Given the description of an element on the screen output the (x, y) to click on. 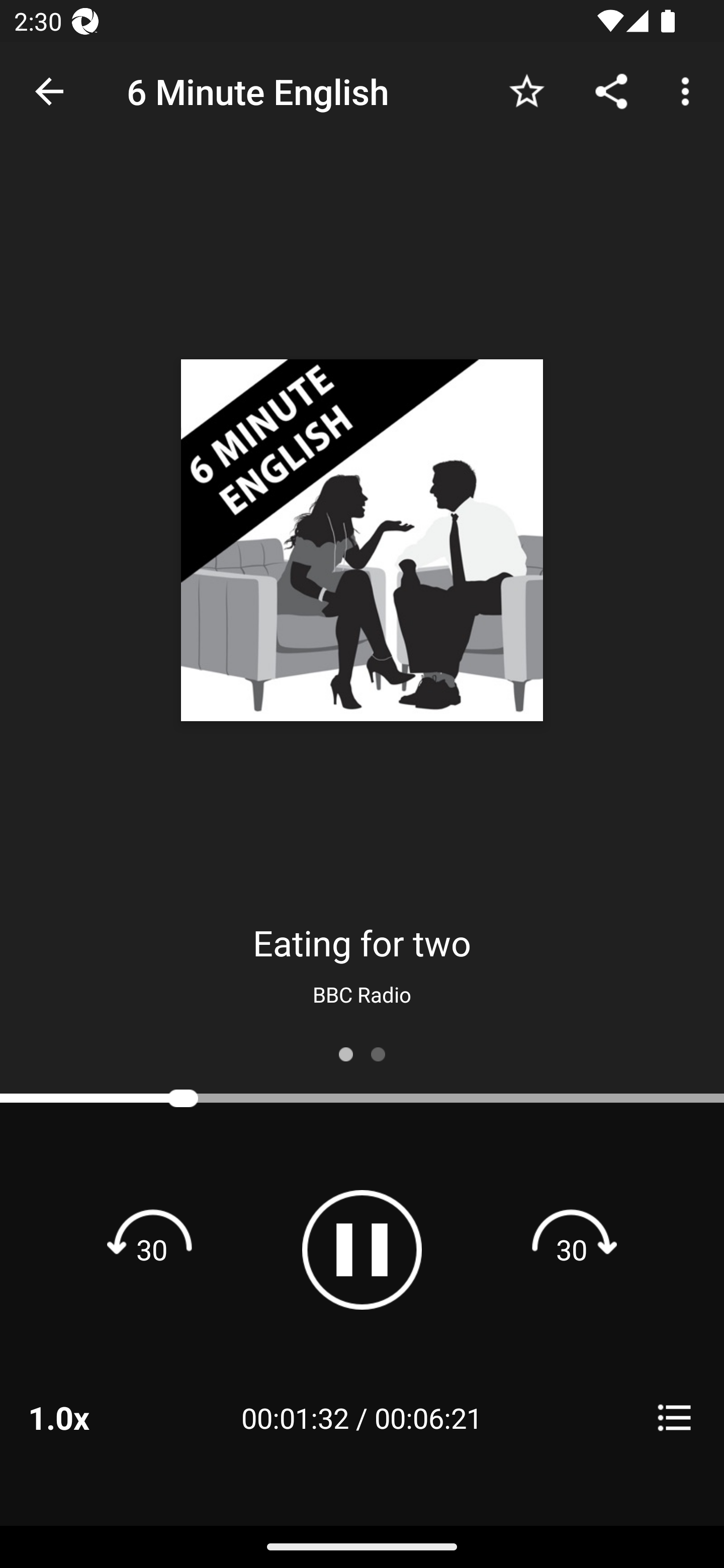
Navigate up (49, 91)
Add to Favorites (526, 90)
Share... (611, 90)
More options (688, 90)
BBC Radio (361, 994)
Pause (361, 1249)
Rewind (151, 1249)
Fast forward (571, 1249)
1.0x Playback Speeds (84, 1417)
00:06:21 (428, 1417)
